Given the description of an element on the screen output the (x, y) to click on. 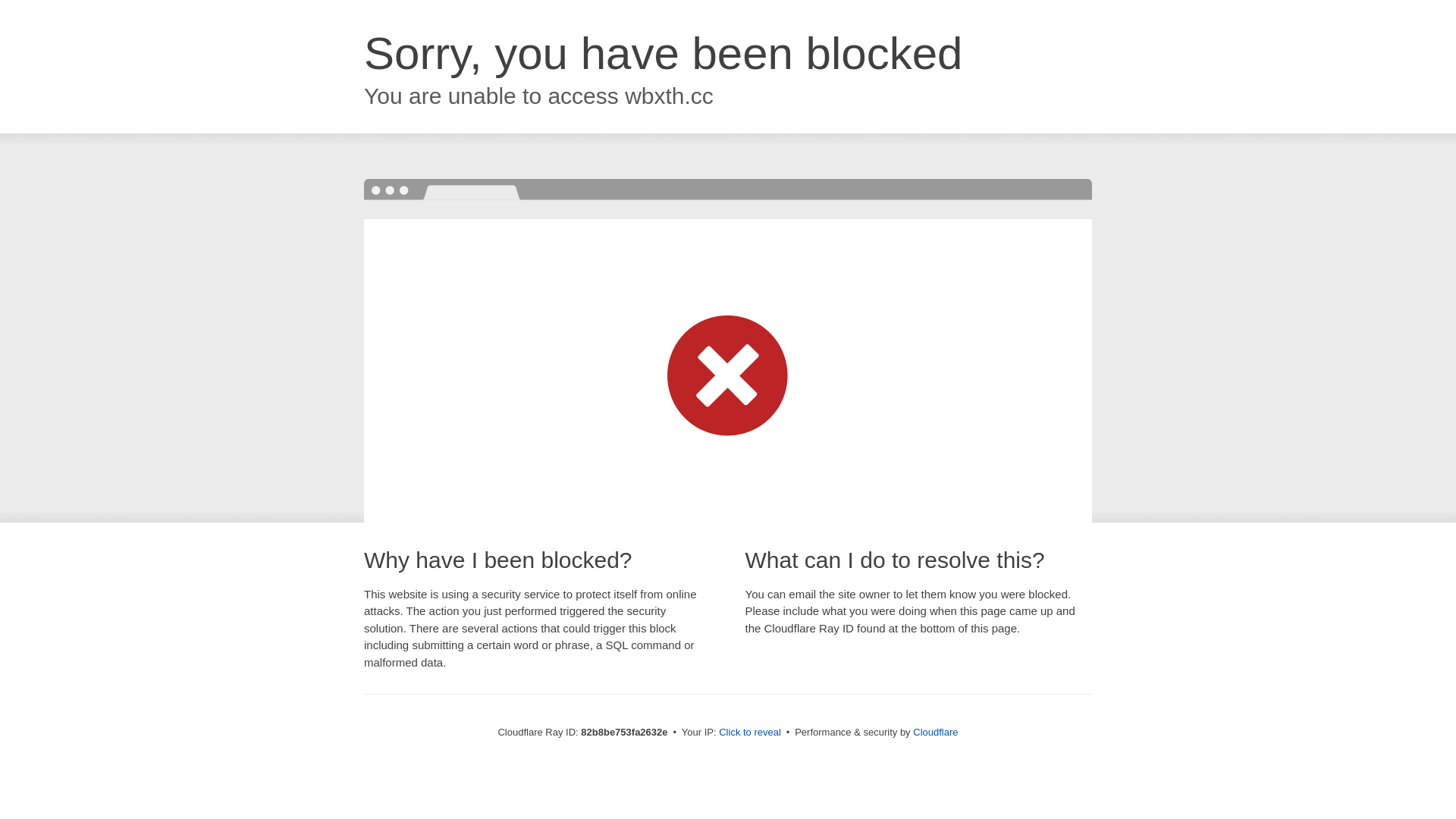
Click to reveal Element type: text (749, 732)
Cloudflare Element type: text (935, 731)
